Given the description of an element on the screen output the (x, y) to click on. 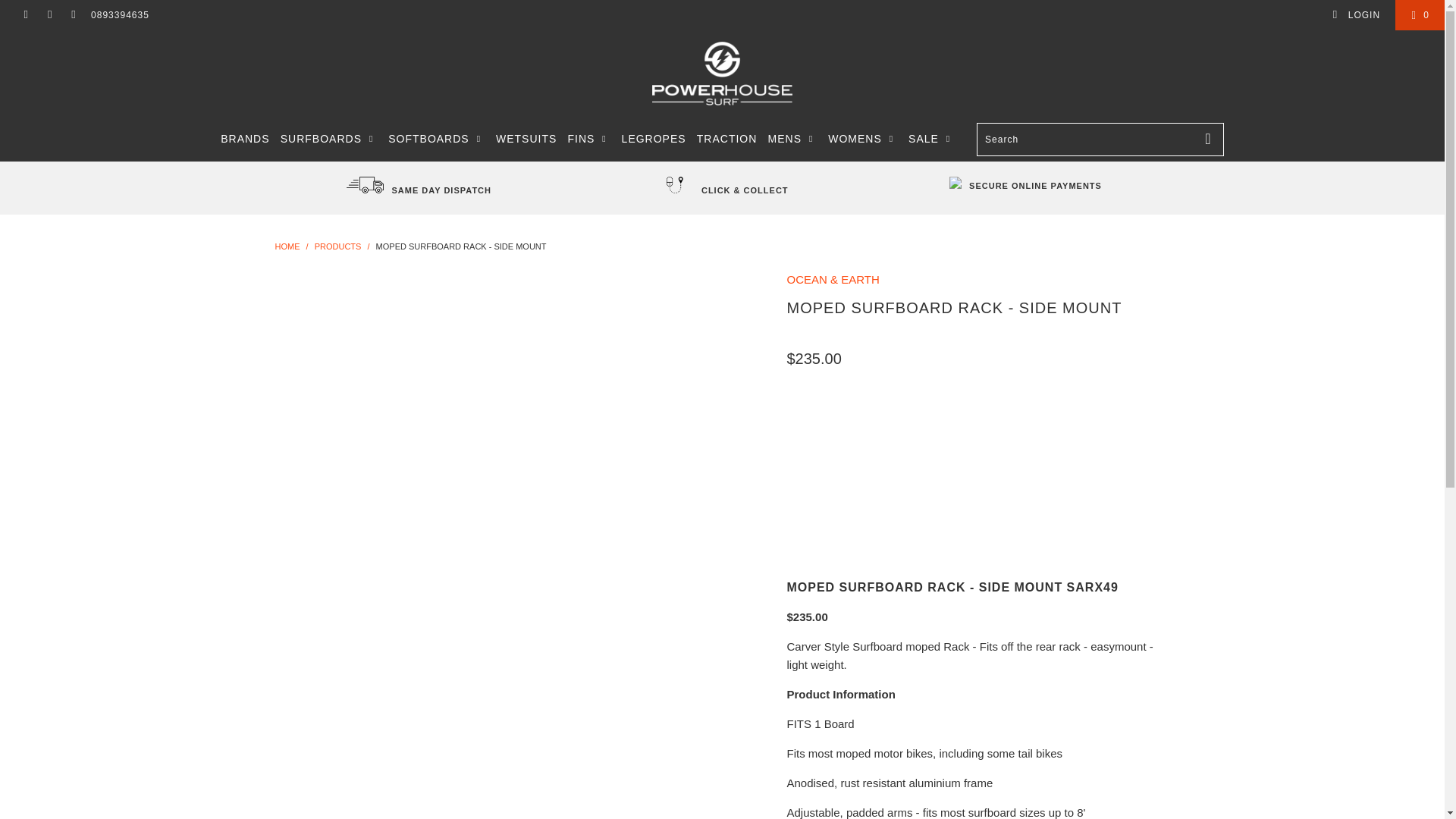
Powerhousesurf on Instagram (48, 14)
Powerhousesurf (287, 245)
Email Powerhousesurf (73, 14)
Products (337, 245)
My Account  (1355, 15)
Powerhousesurf on Facebook (25, 14)
